Given the description of an element on the screen output the (x, y) to click on. 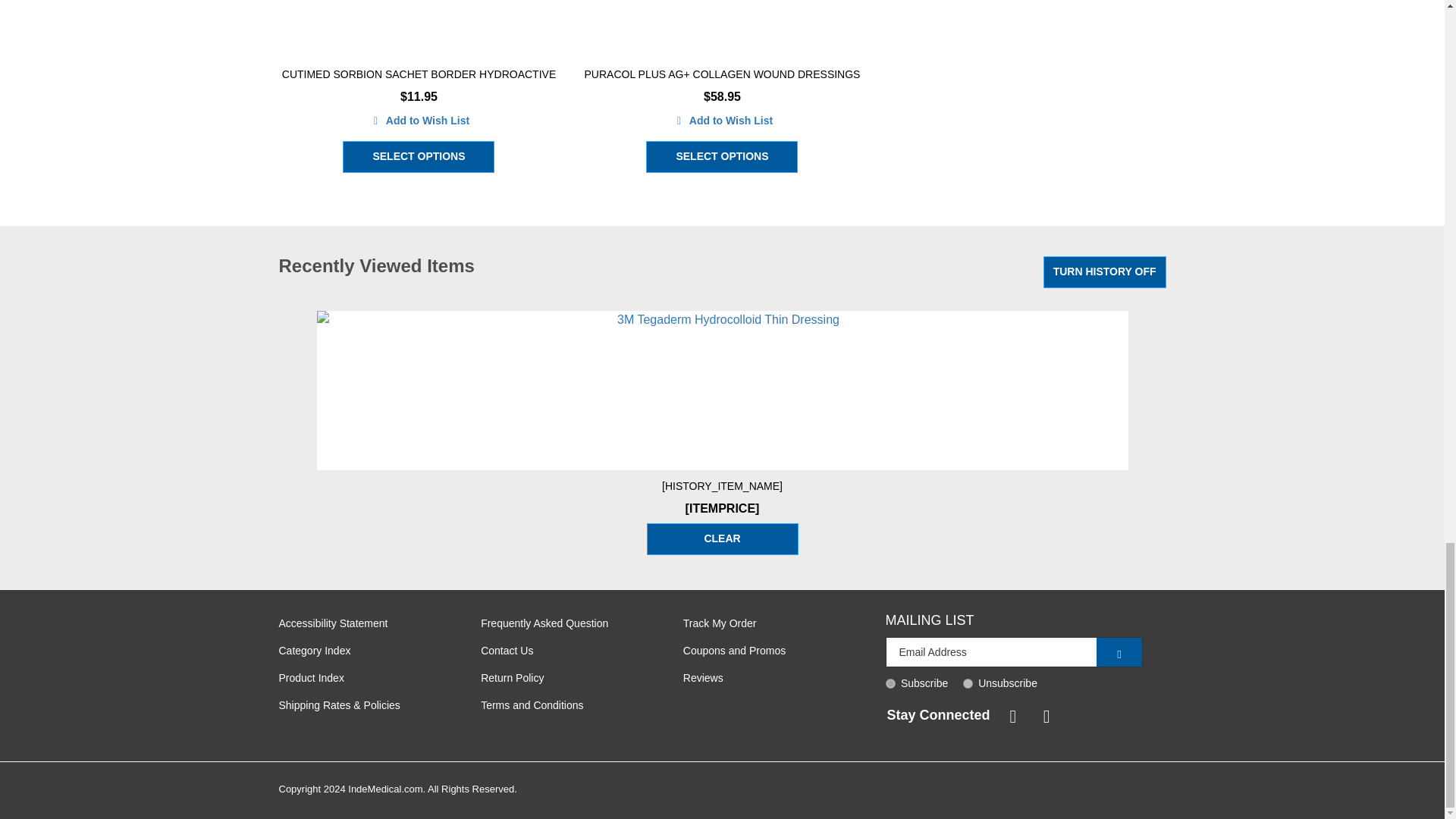
0 (967, 683)
Follow Us on Instagram (1042, 714)
1 (890, 683)
Like Us on Facebook (1010, 714)
